Given the description of an element on the screen output the (x, y) to click on. 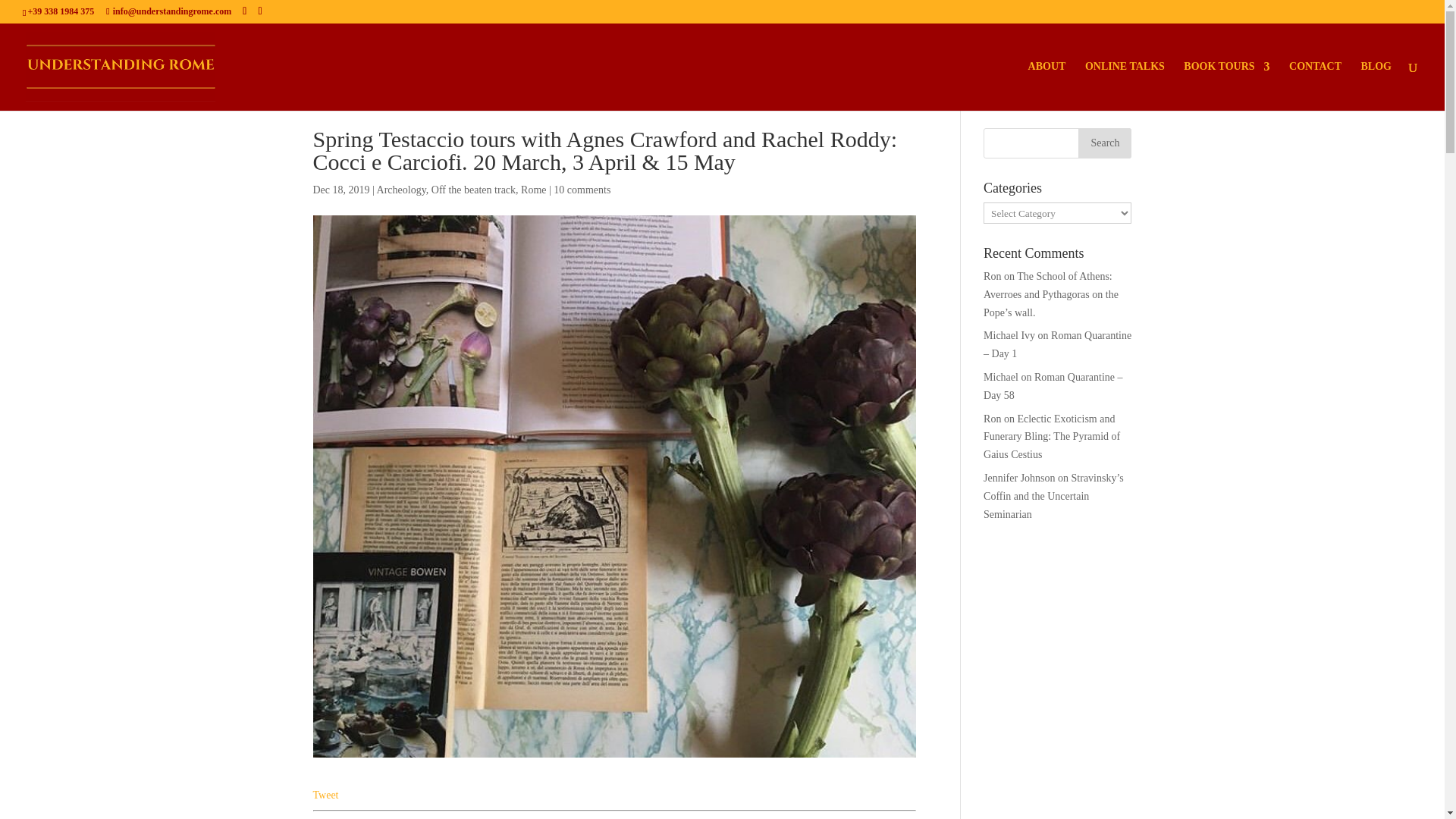
CONTACT (1314, 85)
ONLINE TALKS (1124, 85)
Search (1104, 142)
BOOK TOURS (1226, 85)
